Given the description of an element on the screen output the (x, y) to click on. 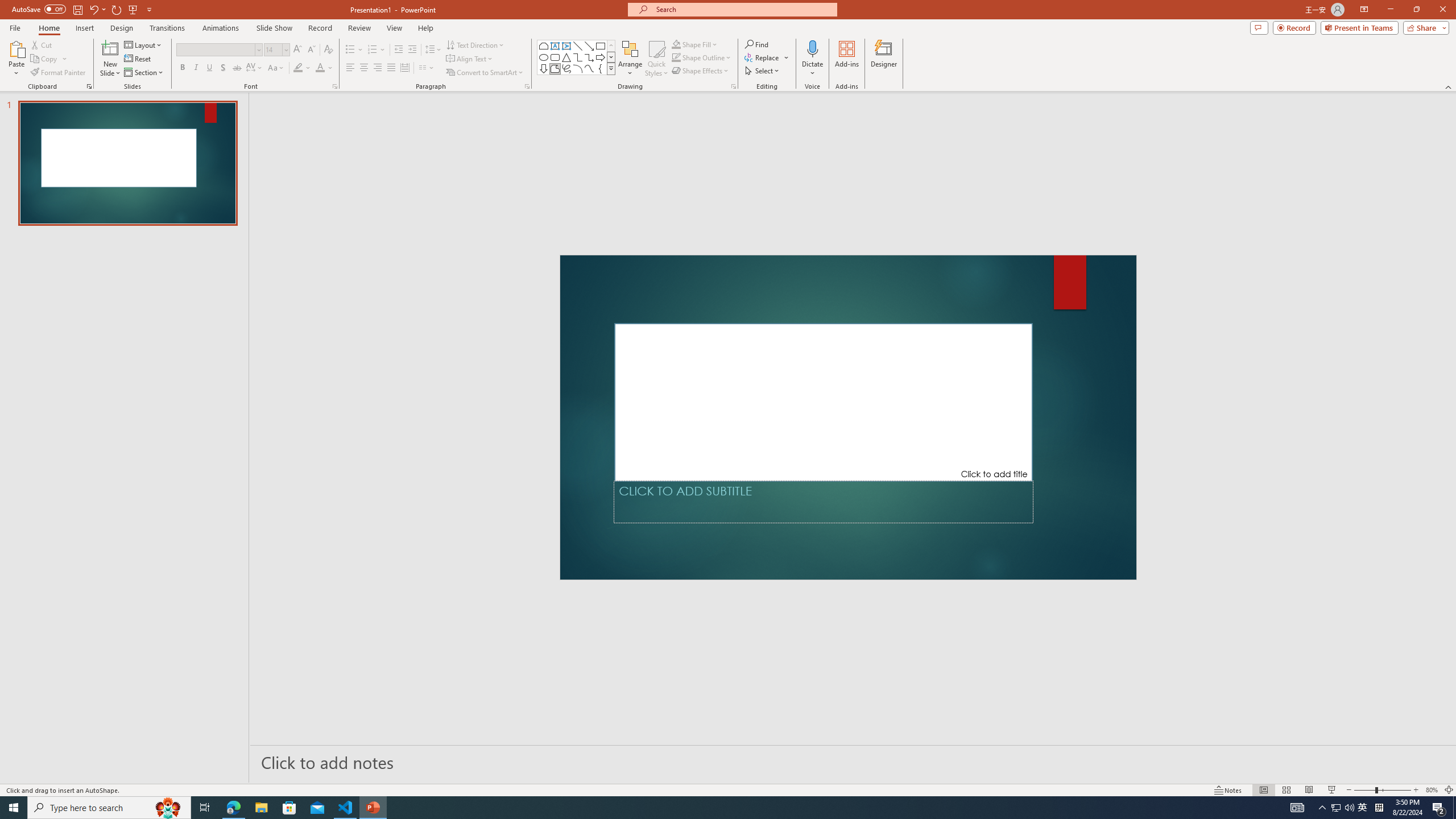
Bold (182, 67)
Connector: Elbow Arrow (589, 57)
Arrow: Down (543, 68)
Line (577, 45)
Quick Styles (656, 58)
Select (762, 69)
Slide Notes (852, 761)
Arrange (630, 58)
Connector: Elbow (577, 57)
Designer (883, 58)
Center (363, 67)
